Given the description of an element on the screen output the (x, y) to click on. 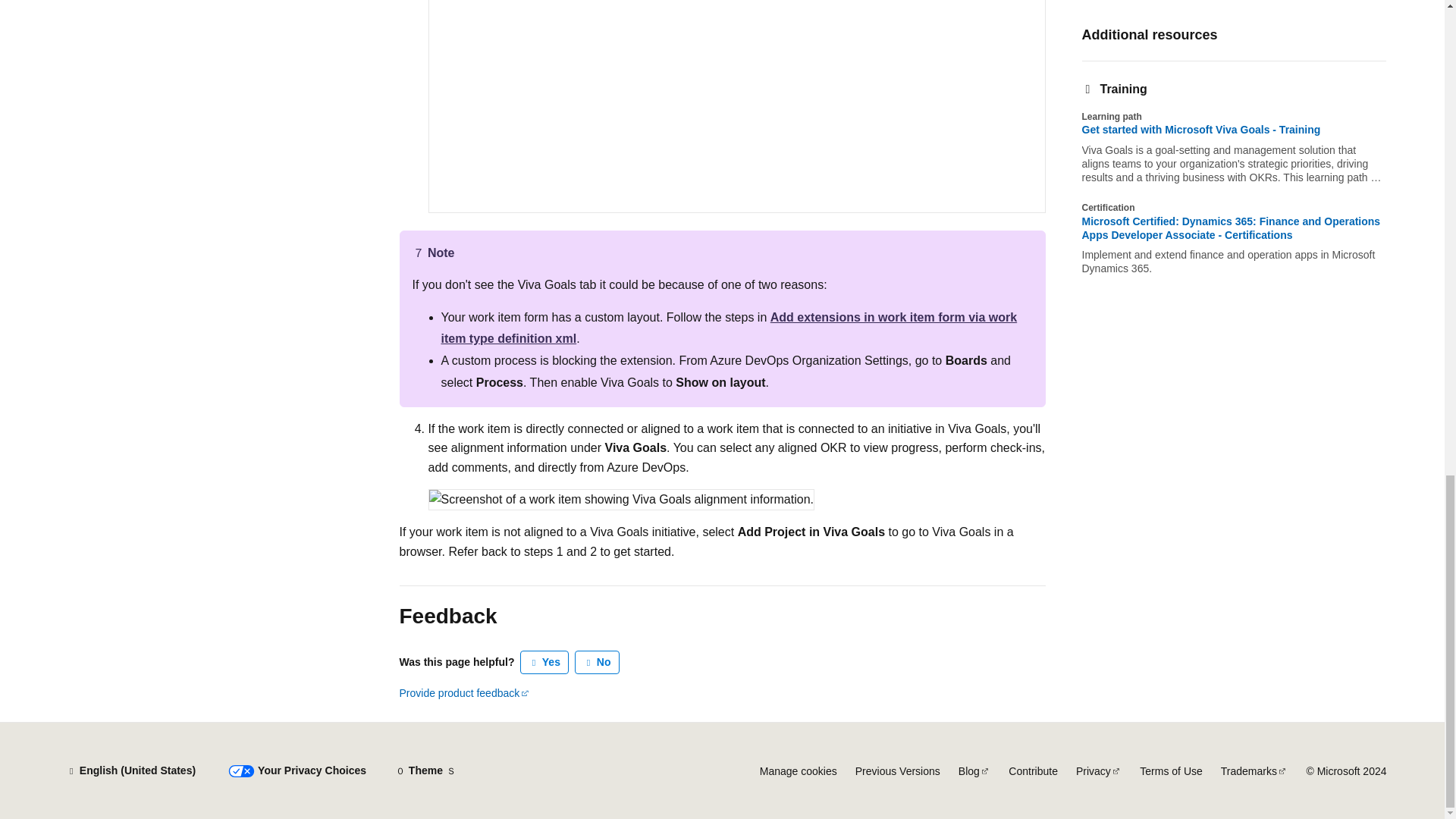
No (597, 662)
This article is helpful (544, 662)
Provide product feedback (463, 693)
Yes (544, 662)
Theme (425, 770)
This article is not helpful (597, 662)
